Given the description of an element on the screen output the (x, y) to click on. 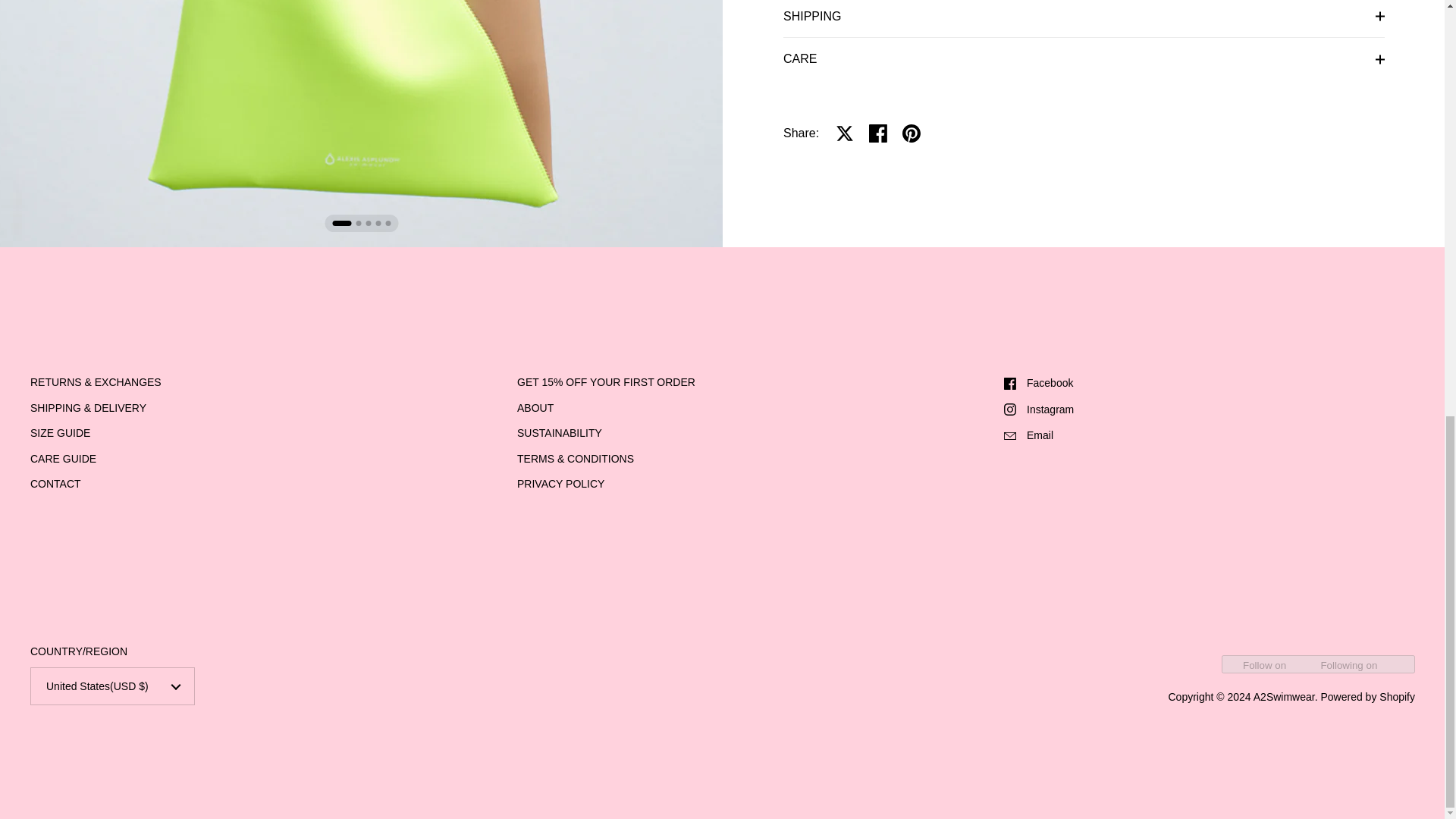
Share on X (844, 133)
SIZE GUIDE (60, 433)
Share on facebook (878, 133)
Share on facebook (878, 133)
SUSTAINABILITY (559, 433)
CONTACT (55, 484)
Facebook (1209, 382)
Email (1209, 435)
Share on X (844, 133)
PRIVACY POLICY (560, 484)
Instagram (1209, 409)
CARE GUIDE (63, 459)
Share on pinterest (911, 133)
ABOUT (534, 409)
Share on pinterest (911, 133)
